Given the description of an element on the screen output the (x, y) to click on. 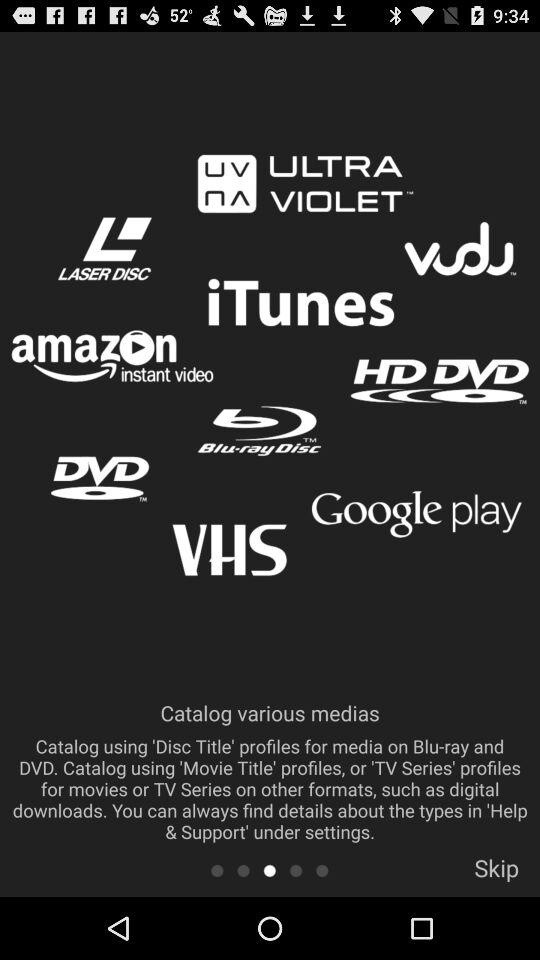
launch icon next to skip (321, 870)
